Given the description of an element on the screen output the (x, y) to click on. 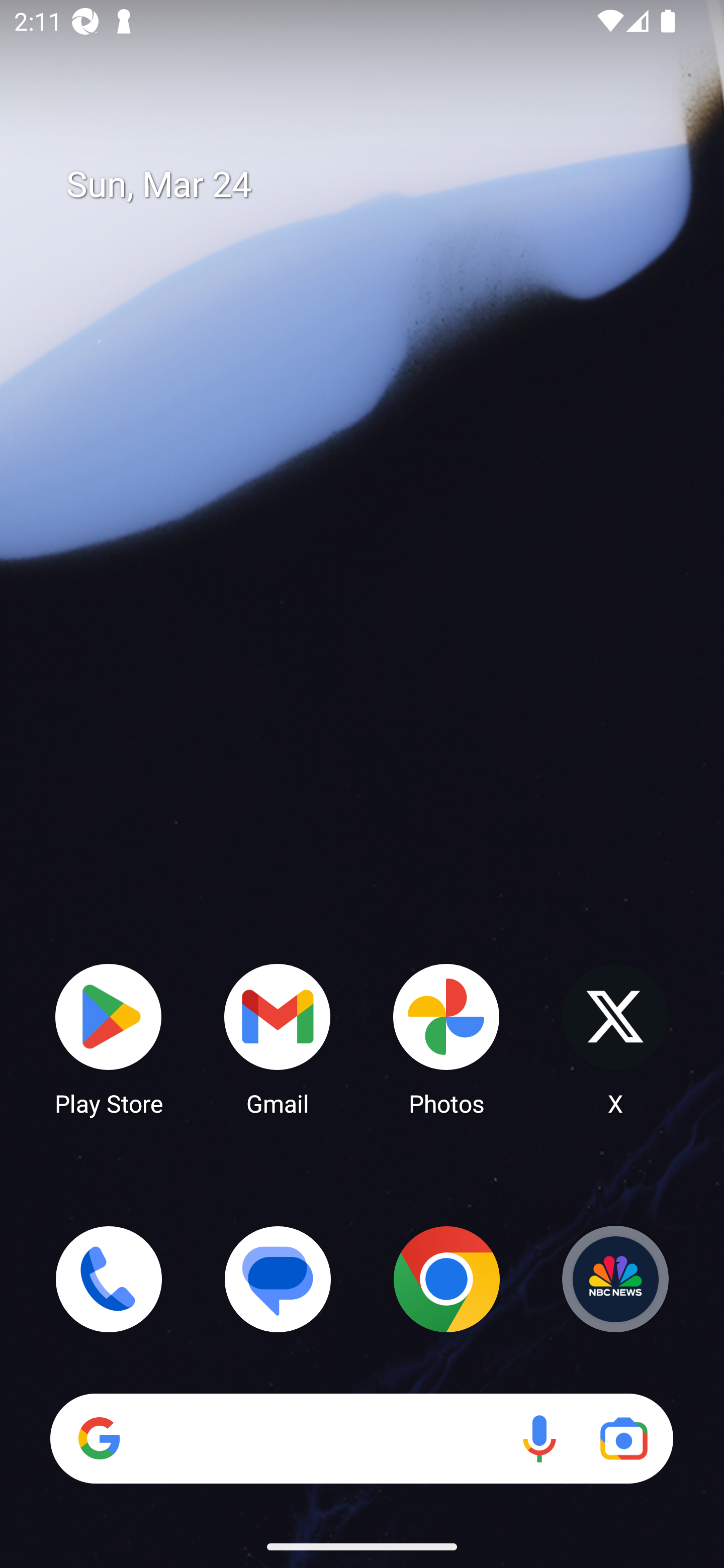
Sun, Mar 24 (375, 184)
Play Store (108, 1038)
Gmail (277, 1038)
Photos (445, 1038)
X (615, 1038)
Phone (108, 1279)
Messages (277, 1279)
Chrome (446, 1279)
NBC NEWS Predicted app: NBC NEWS (615, 1279)
Voice search (539, 1438)
Google Lens (623, 1438)
